Given the description of an element on the screen output the (x, y) to click on. 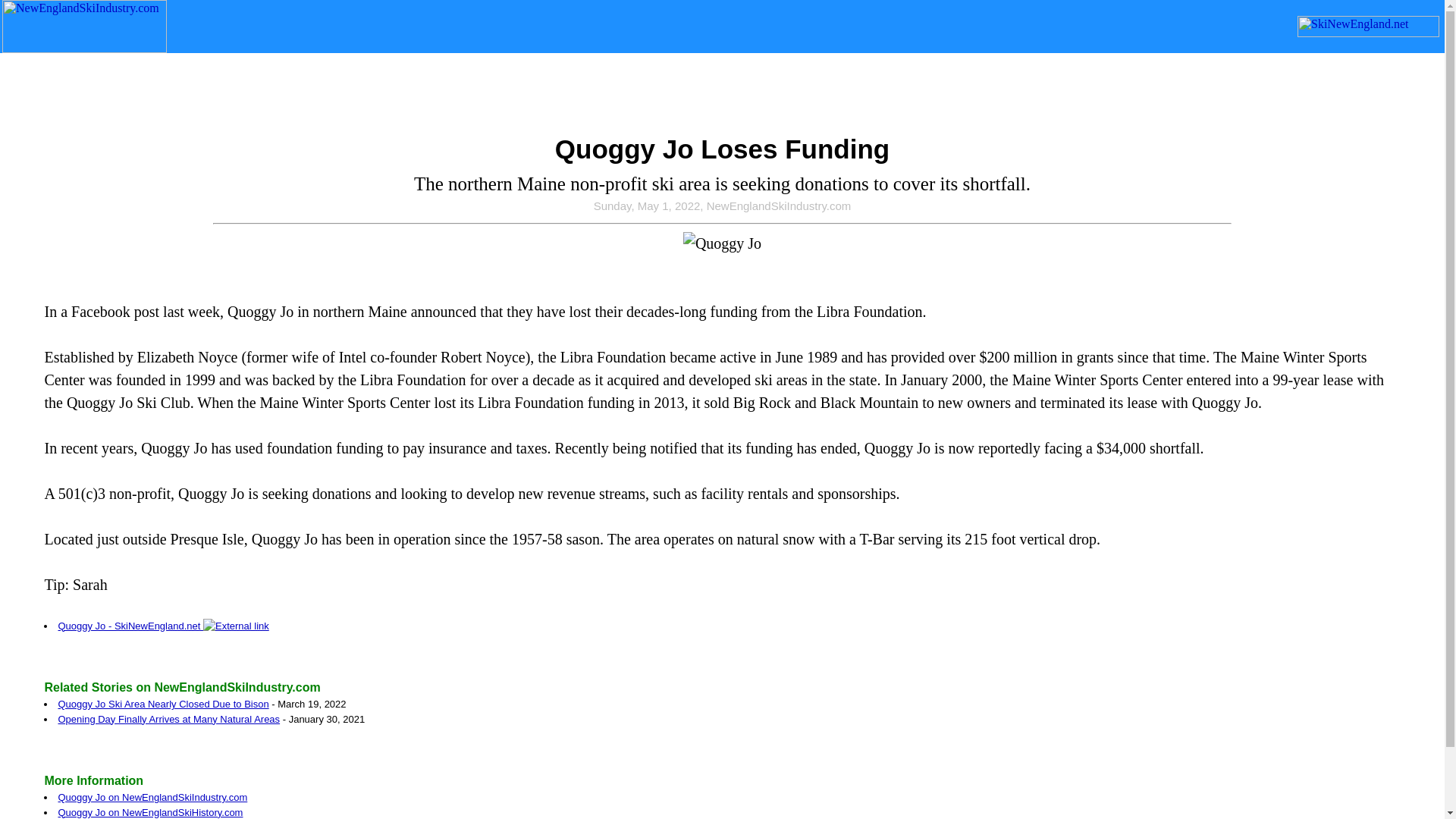
Quoggy Jo on NewEnglandSkiHistory.com (150, 812)
Quoggy Jo Ski Area Nearly Closed Due to Bison (162, 704)
Quoggy Jo on NewEnglandSkiIndustry.com (152, 797)
Opening Day Finally Arrives at Many Natural Areas (168, 717)
Quoggy Jo - SkiNewEngland.net (162, 625)
